Given the description of an element on the screen output the (x, y) to click on. 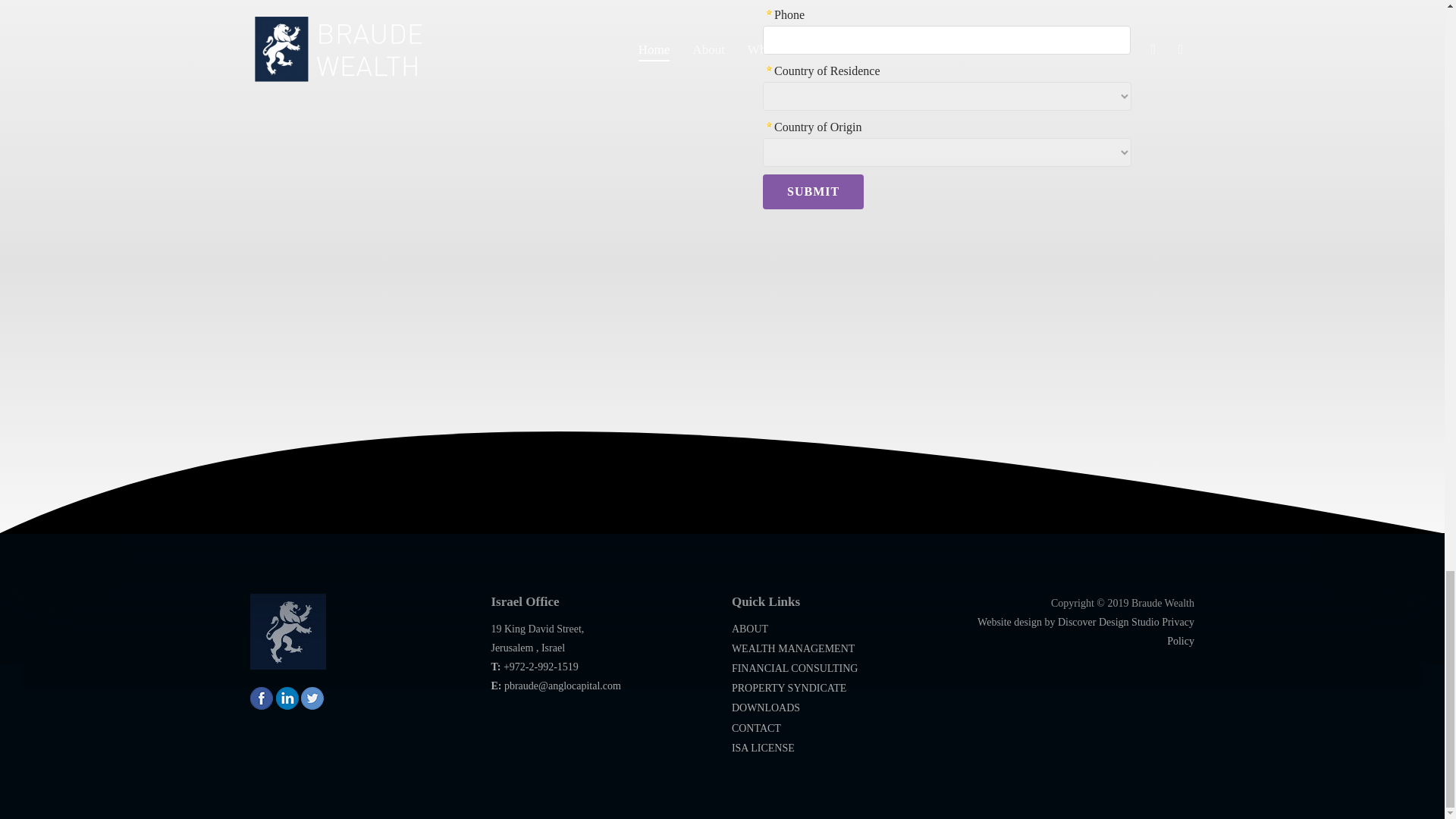
Newsletter 2017-07-5 (962, 121)
